Given the description of an element on the screen output the (x, y) to click on. 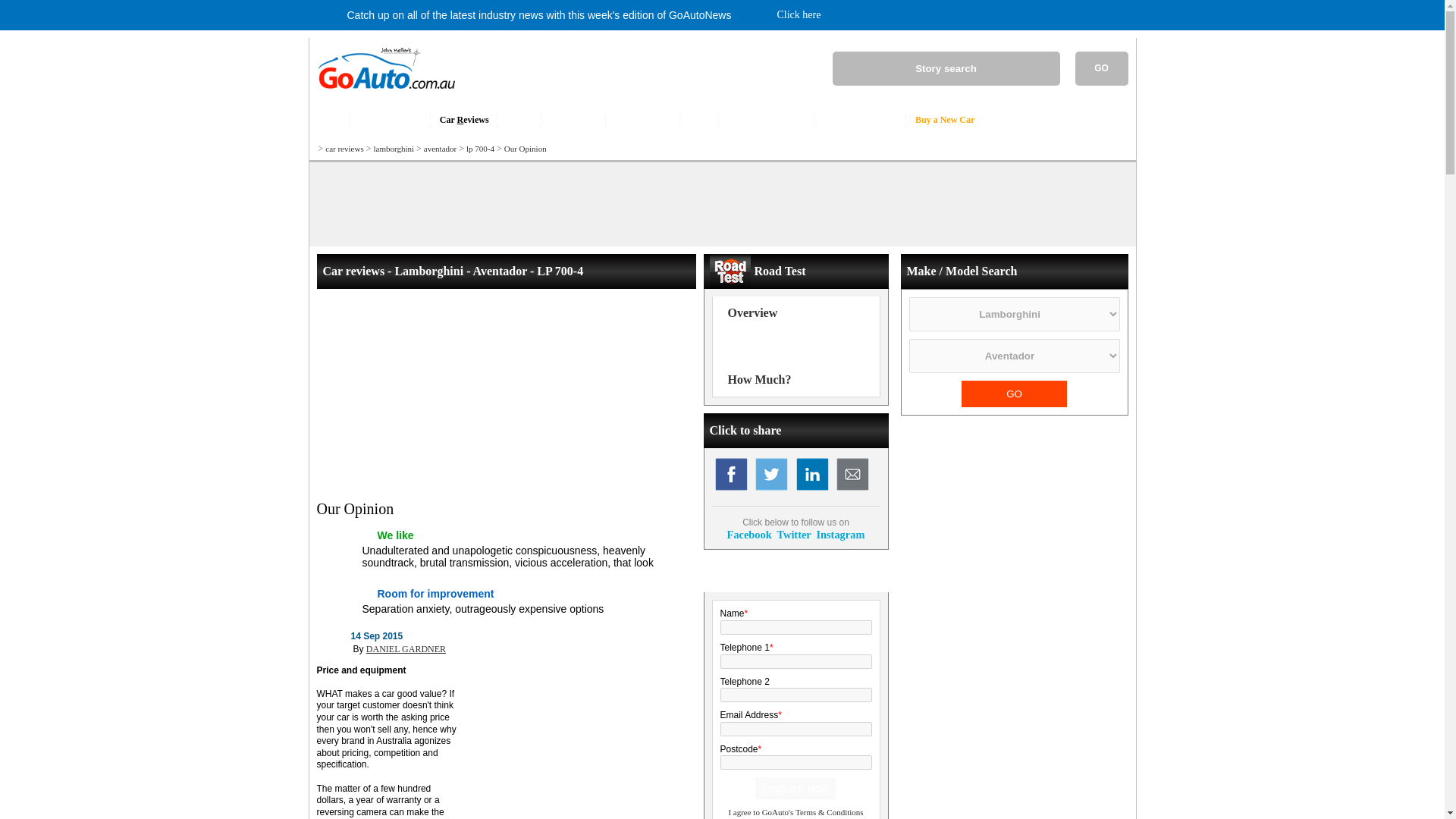
Car Videos - Check out the latest New Car Videos (518, 119)
lp 700-4 (480, 148)
GoAuto.com.au (381, 94)
News (698, 119)
Videos (518, 119)
Used Car Research (859, 119)
Latest Coverage (389, 119)
Future Models (642, 119)
aventador (440, 148)
Home (328, 119)
